Given the description of an element on the screen output the (x, y) to click on. 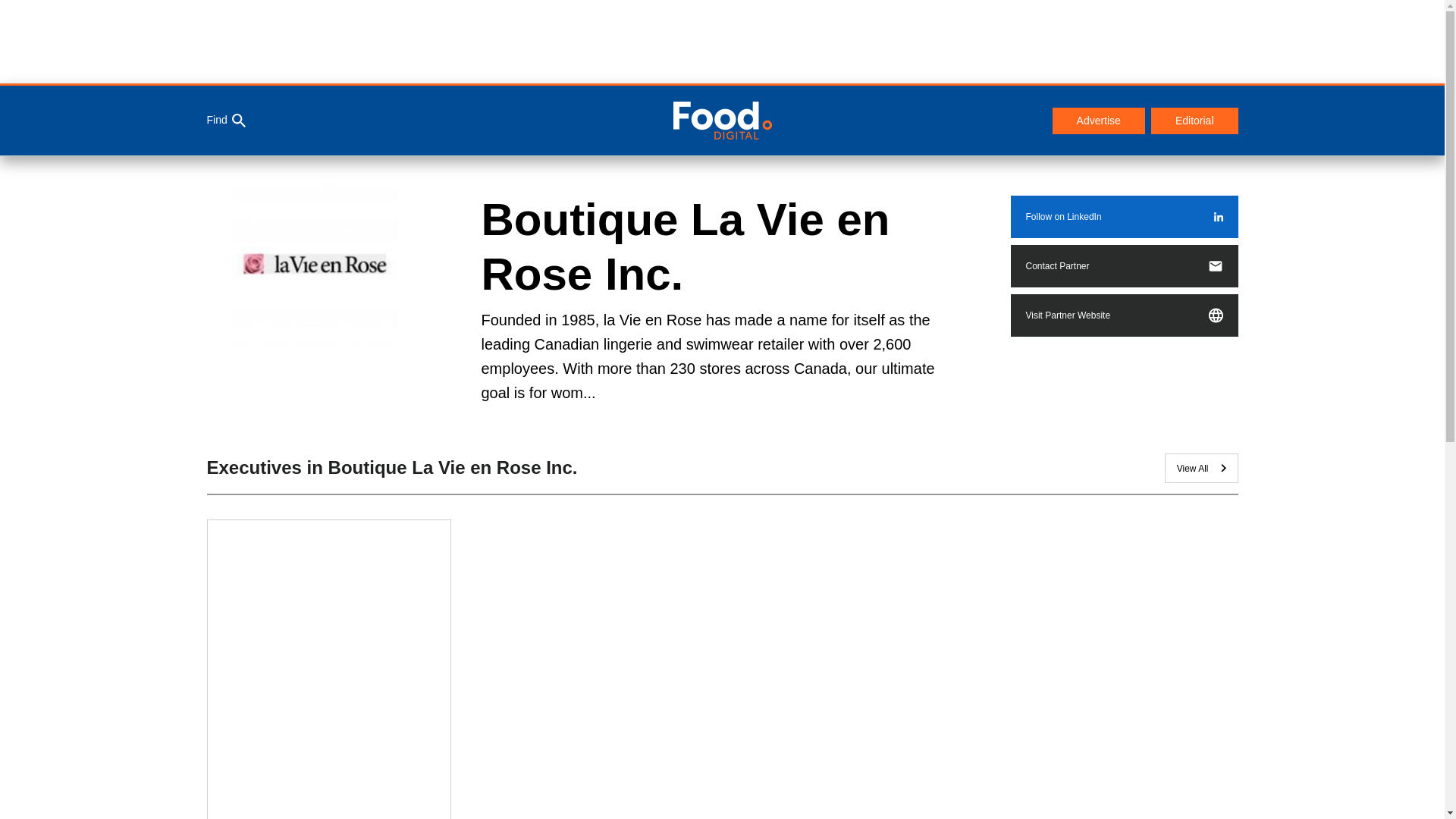
Contact Partner (1123, 265)
Visit Partner Website (1123, 315)
Follow on LinkedIn (1123, 216)
Advertise (1098, 121)
View All (1201, 468)
Find (225, 120)
Editorial (1195, 121)
